Given the description of an element on the screen output the (x, y) to click on. 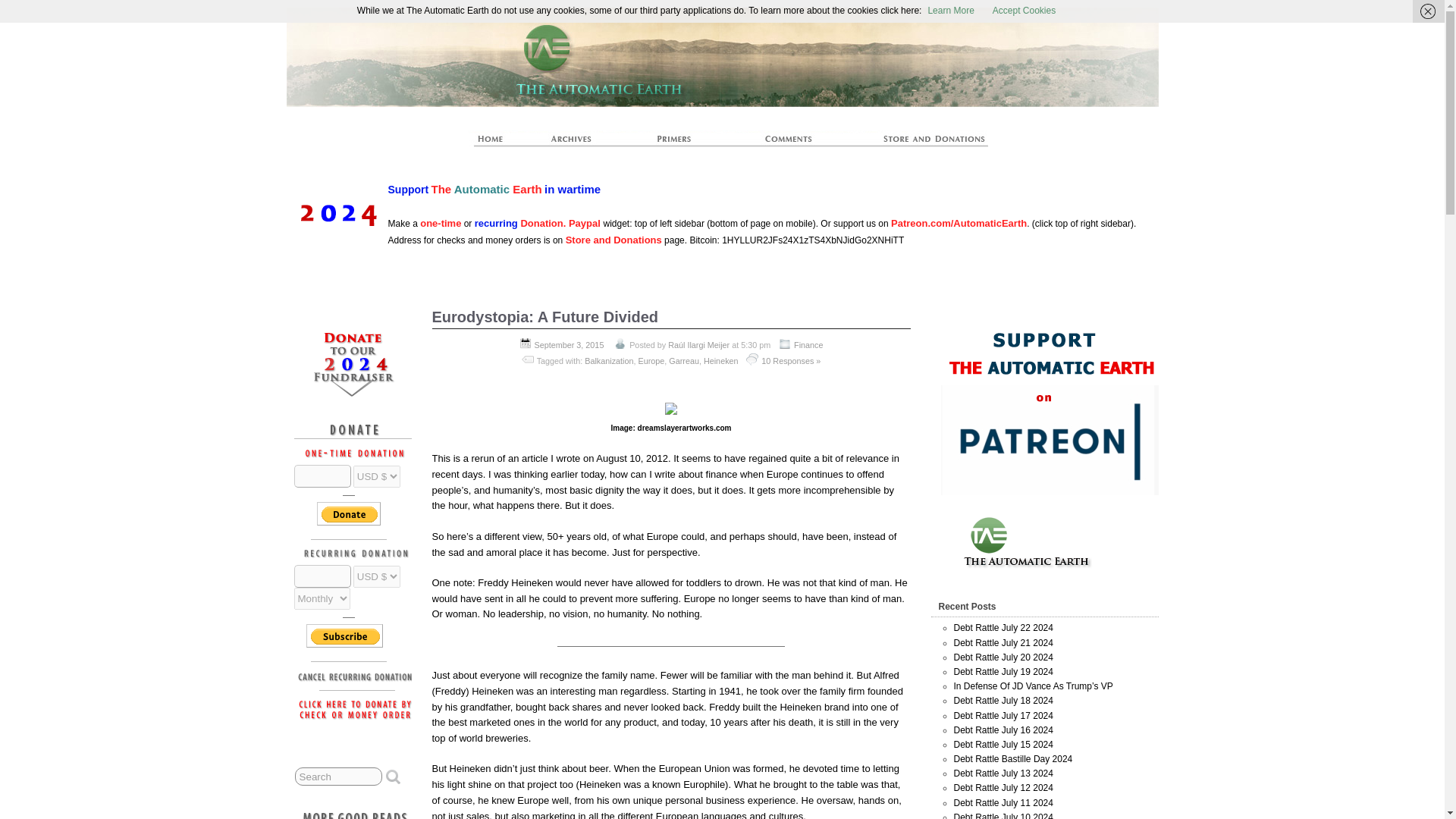
Store and Donations (614, 240)
Primers (680, 143)
Finance (807, 344)
Forum (789, 143)
The Automatic Earth (860, 36)
Store And Donations (916, 143)
Search (338, 776)
Heineken (720, 360)
Eurodystopia: A Future Divided (545, 316)
Garreau (683, 360)
Archives (577, 143)
Search (338, 776)
Europe (650, 360)
The Automatic Earth (498, 143)
Eurodystopia: A Future Divided (545, 316)
